Given the description of an element on the screen output the (x, y) to click on. 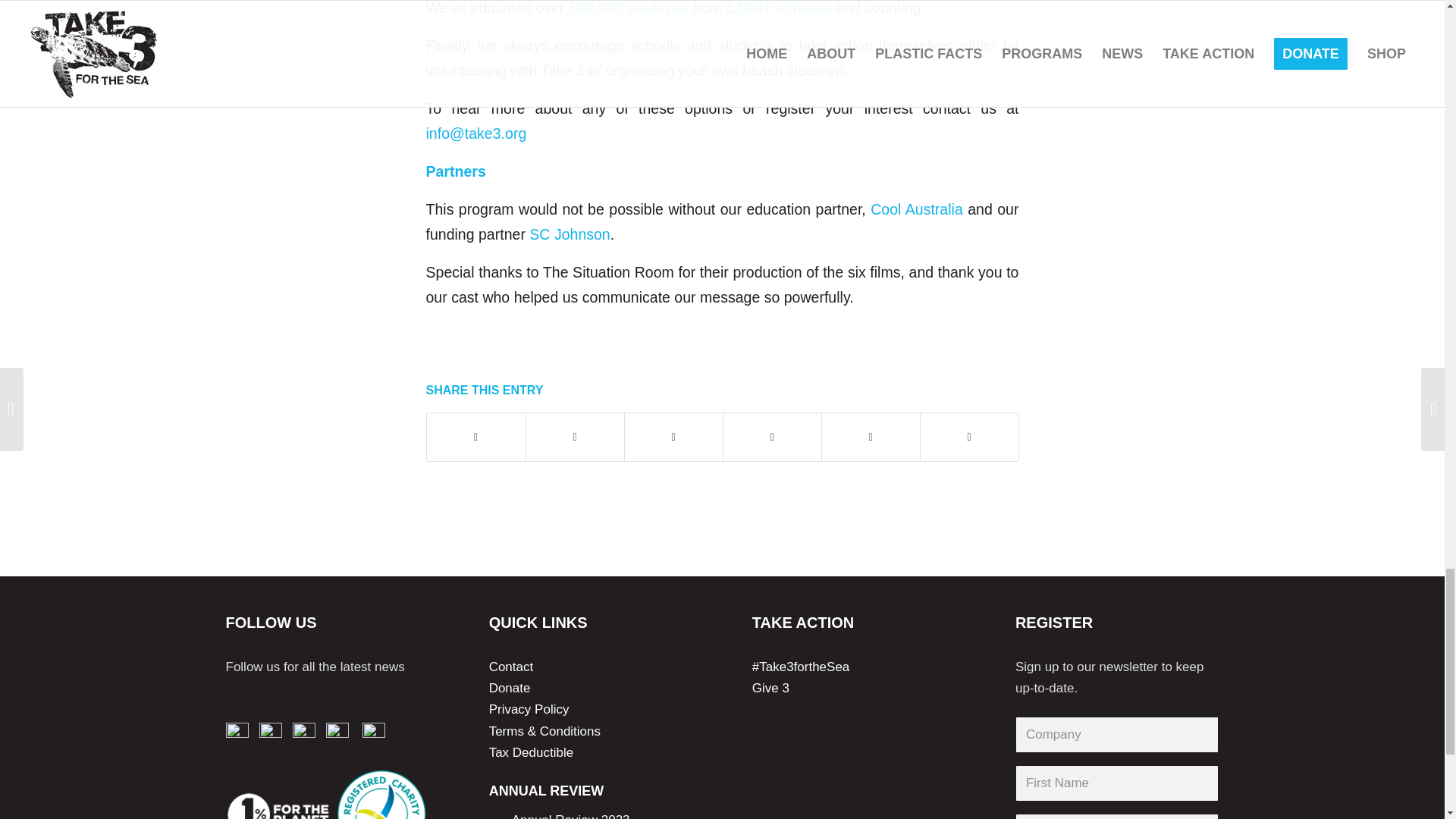
SC Johnson (569, 234)
foo-credits-new (327, 791)
Contact (511, 667)
Cool Australia (916, 208)
Donate (510, 687)
